Given the description of an element on the screen output the (x, y) to click on. 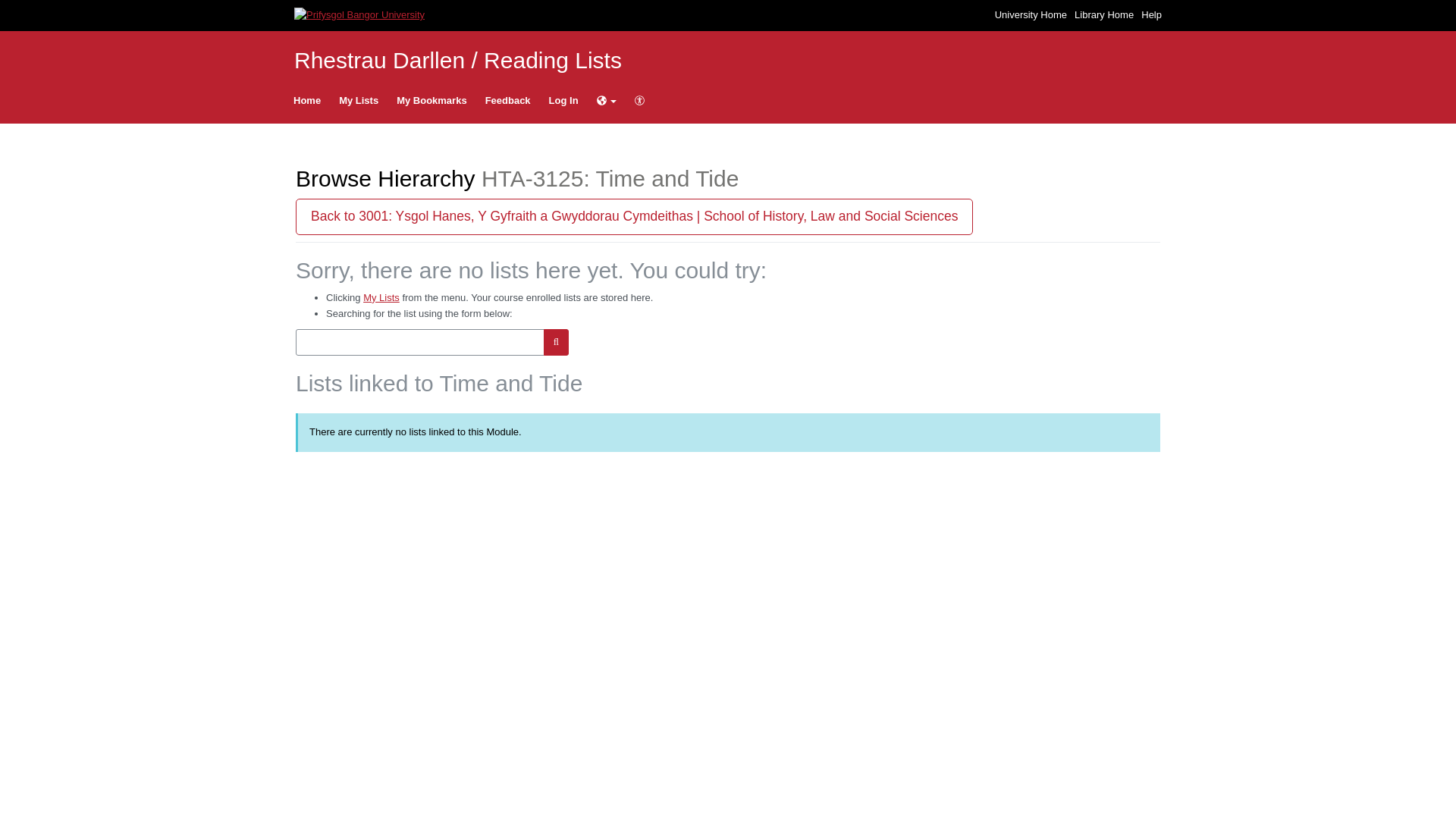
Help (1151, 14)
My Lists (358, 100)
Search (556, 342)
My Lists (380, 297)
My Bookmarks (431, 100)
Library Home (1105, 14)
University Home (1032, 14)
Log In (564, 100)
Home (306, 100)
Feedback (508, 100)
